Given the description of an element on the screen output the (x, y) to click on. 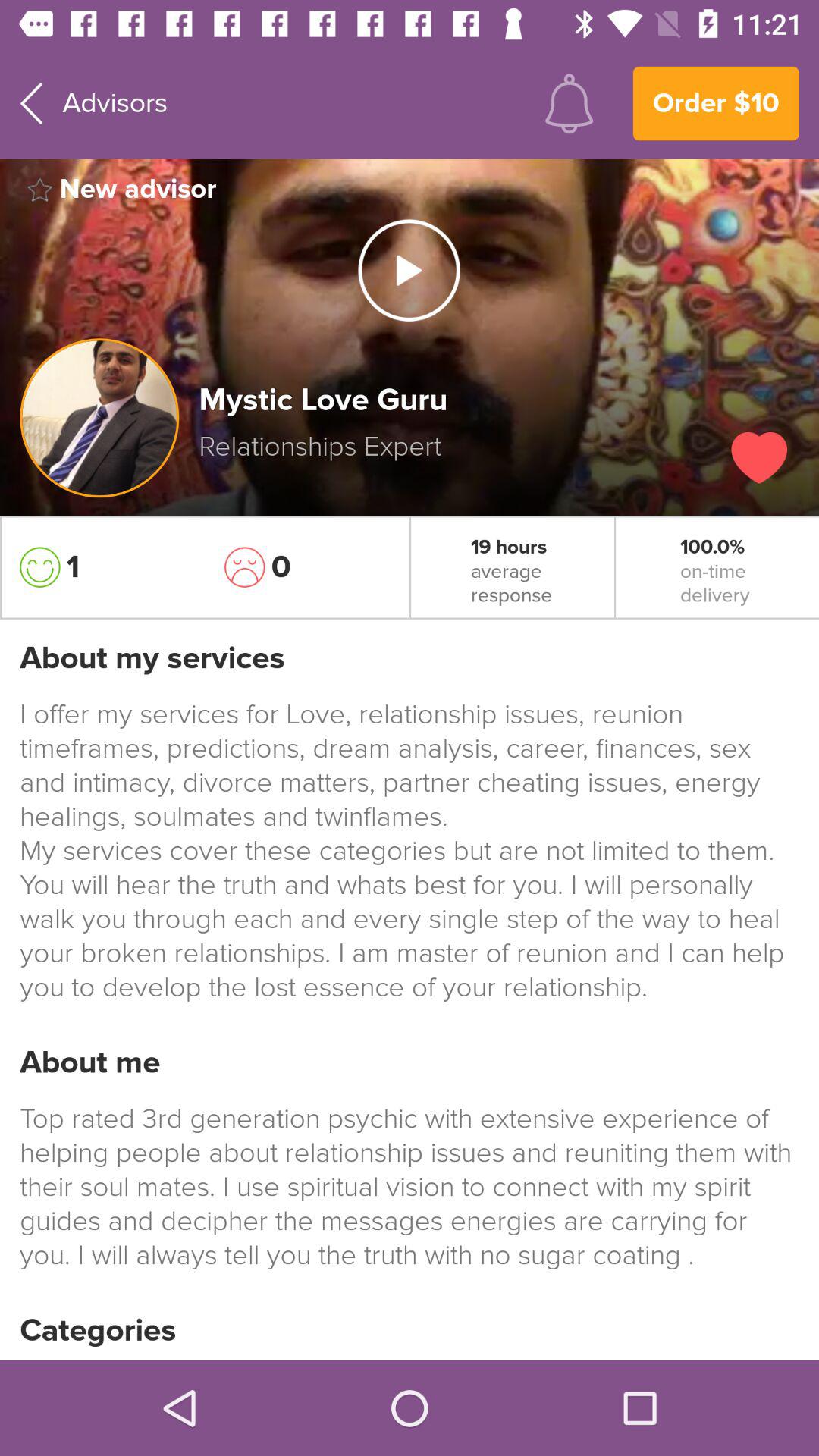
play video (409, 270)
